Given the description of an element on the screen output the (x, y) to click on. 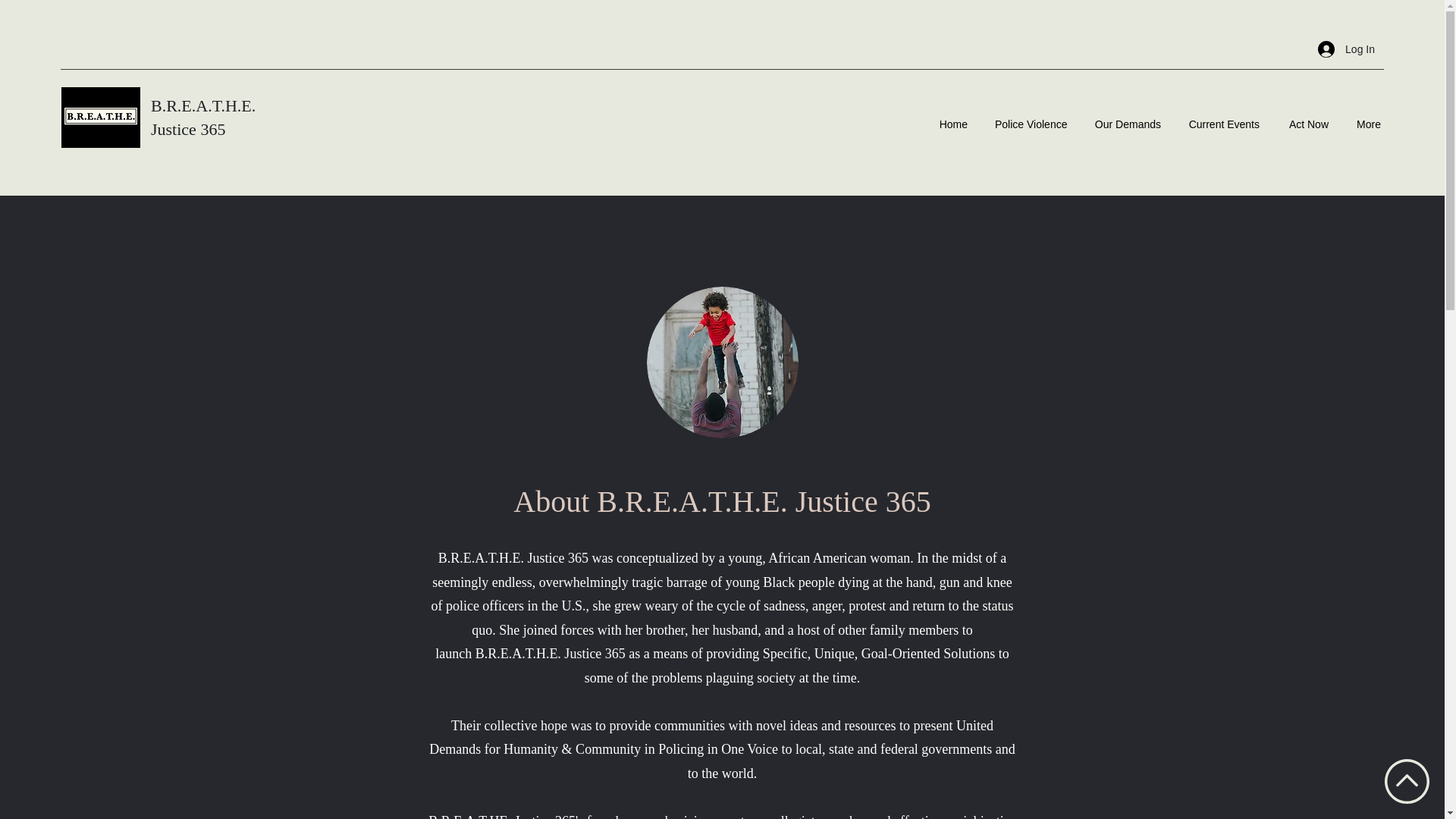
Justice 365 (188, 128)
Current Events (1223, 117)
Log In (1346, 49)
B.R.E.A.T.H.E. (203, 105)
Act Now (1307, 117)
Police Violence (1030, 117)
Our Demands (1127, 117)
Home (952, 117)
